Given the description of an element on the screen output the (x, y) to click on. 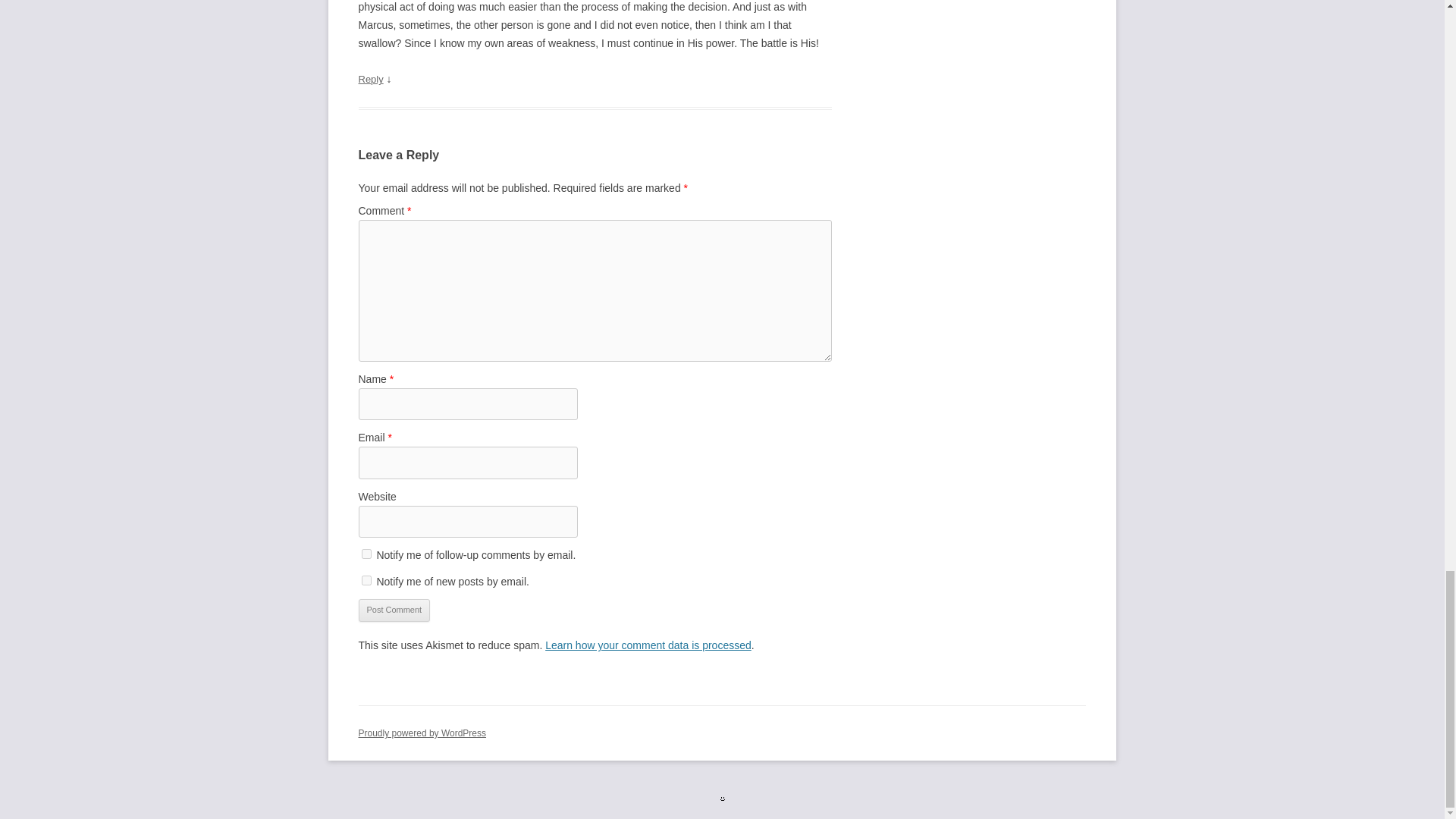
Post Comment (393, 609)
Semantic Personal Publishing Platform (422, 733)
subscribe (366, 553)
subscribe (366, 580)
